Given the description of an element on the screen output the (x, y) to click on. 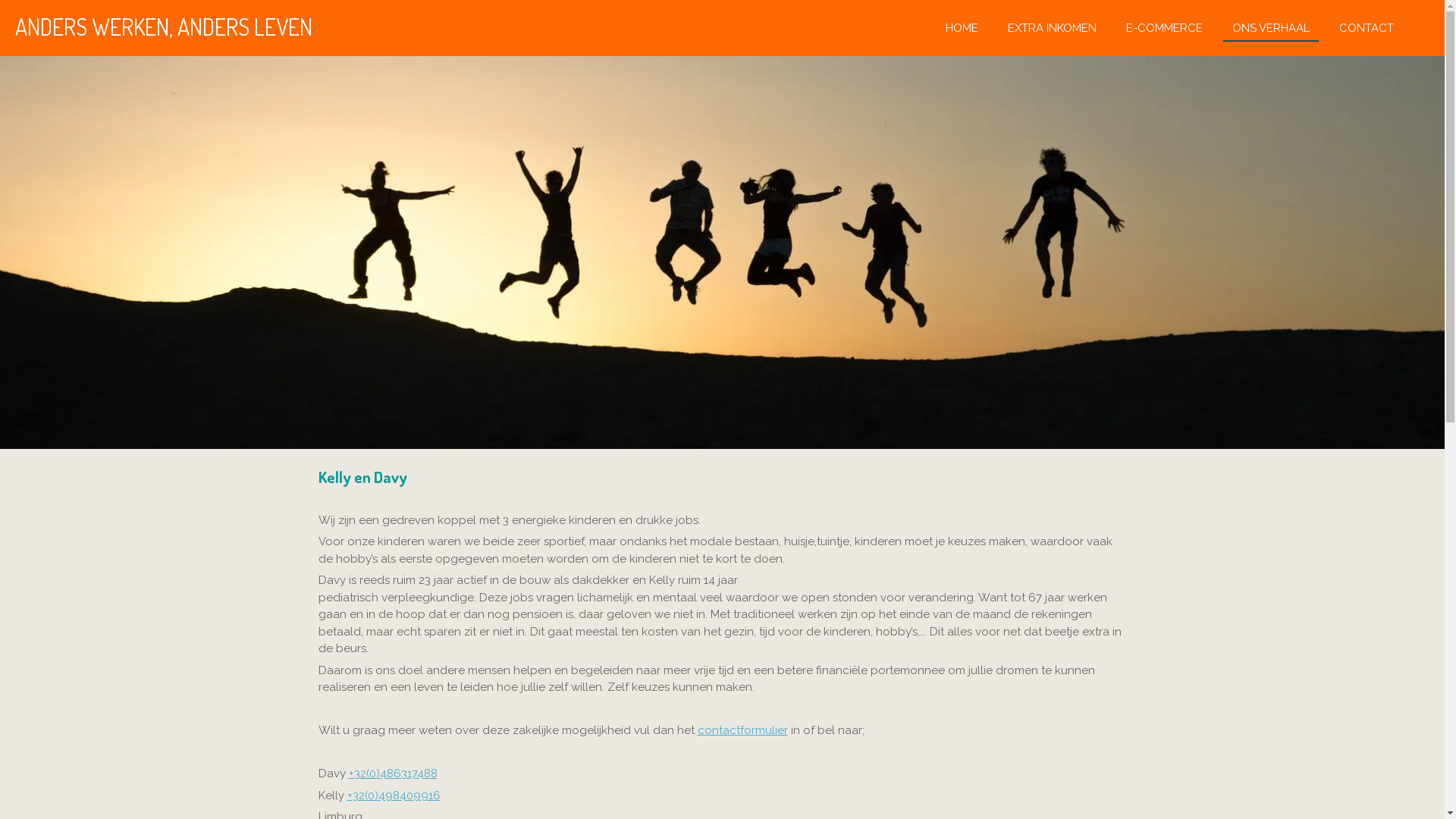
ANDERS WERKEN, ANDERS LEVEN Element type: text (163, 26)
CONTACT Element type: text (1366, 27)
E-COMMERCE Element type: text (1164, 27)
+32(0)486317488 Element type: text (392, 773)
+32(0)498409916 Element type: text (393, 795)
EXTRA INKOMEN Element type: text (1051, 27)
contactformulier Element type: text (742, 730)
HOME Element type: text (961, 27)
ONS VERHAAL Element type: text (1270, 27)
